Given the description of an element on the screen output the (x, y) to click on. 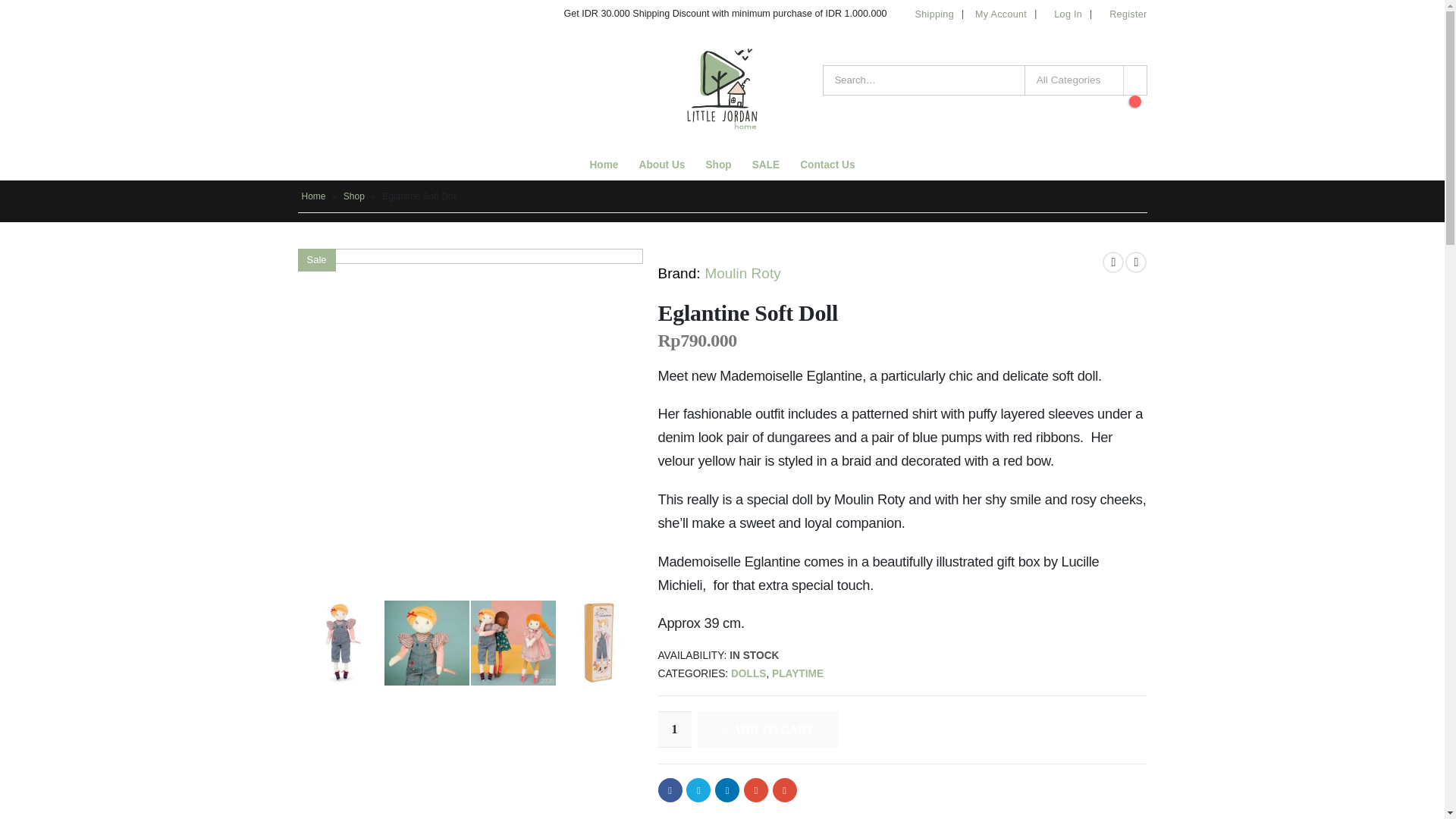
1 (674, 729)
Qty (674, 729)
View brand (742, 273)
Log In (1064, 14)
Twitter (697, 790)
Register (1123, 14)
Search (1135, 80)
About Us (661, 164)
Facebook (670, 790)
Shop (718, 164)
Email (783, 790)
My Account (1000, 14)
Home (603, 164)
Shipping (934, 14)
